Given the description of an element on the screen output the (x, y) to click on. 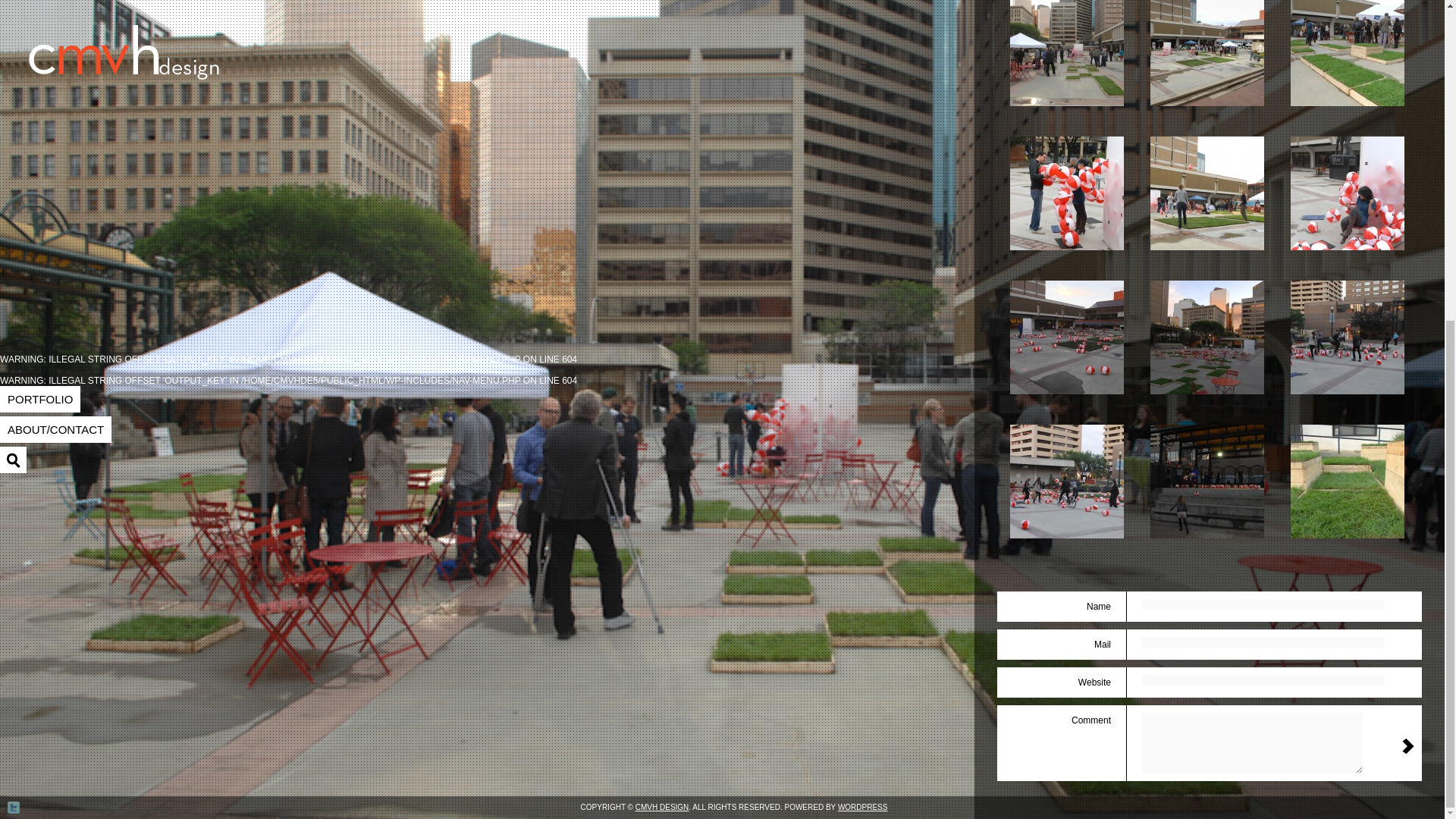
Twitter (13, 287)
CMVH DESIGN (661, 286)
WORDPRESS (863, 286)
